Given the description of an element on the screen output the (x, y) to click on. 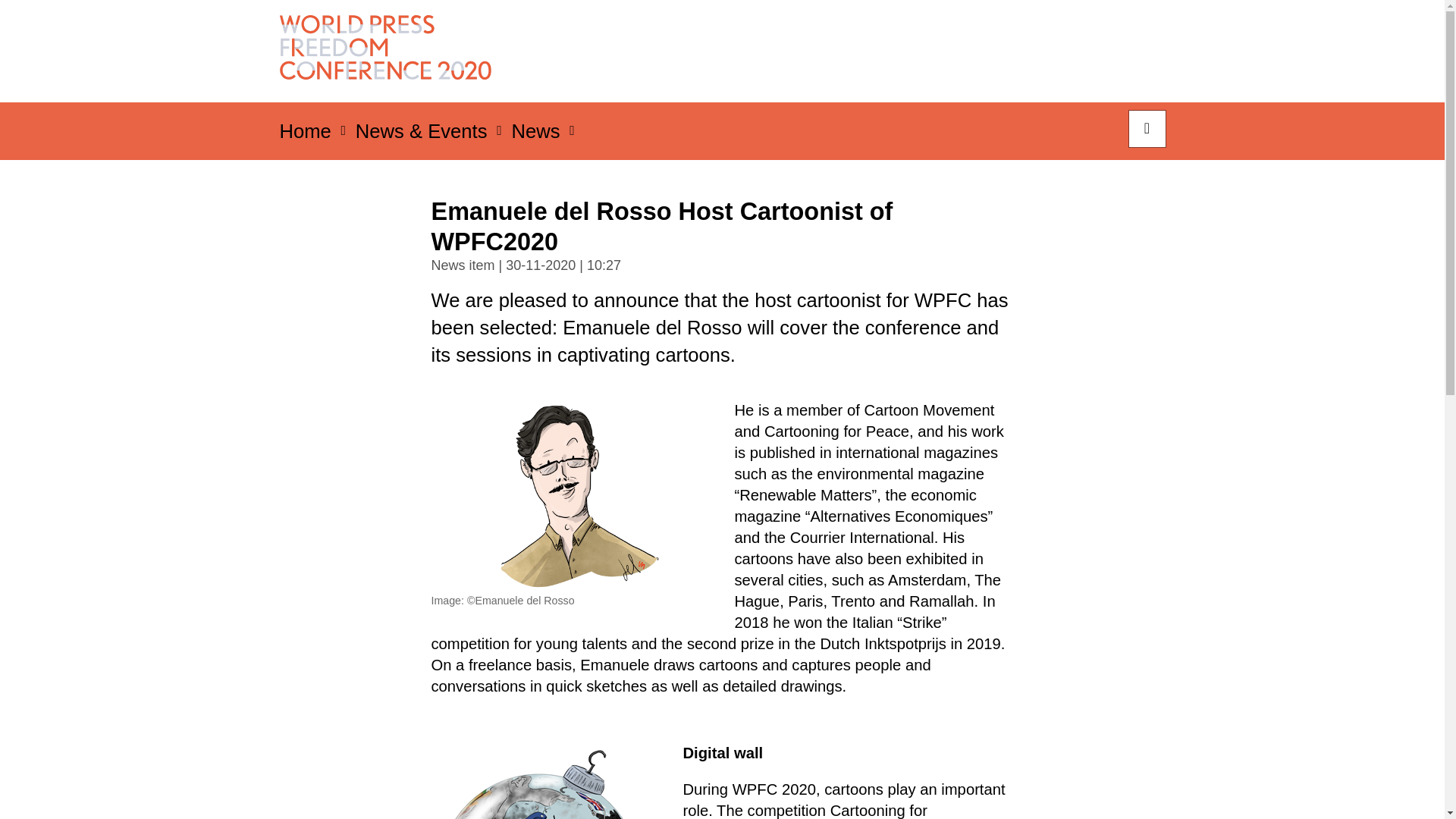
Open search box (1146, 128)
Open search box (1146, 128)
News (535, 135)
Home (304, 135)
